Given the description of an element on the screen output the (x, y) to click on. 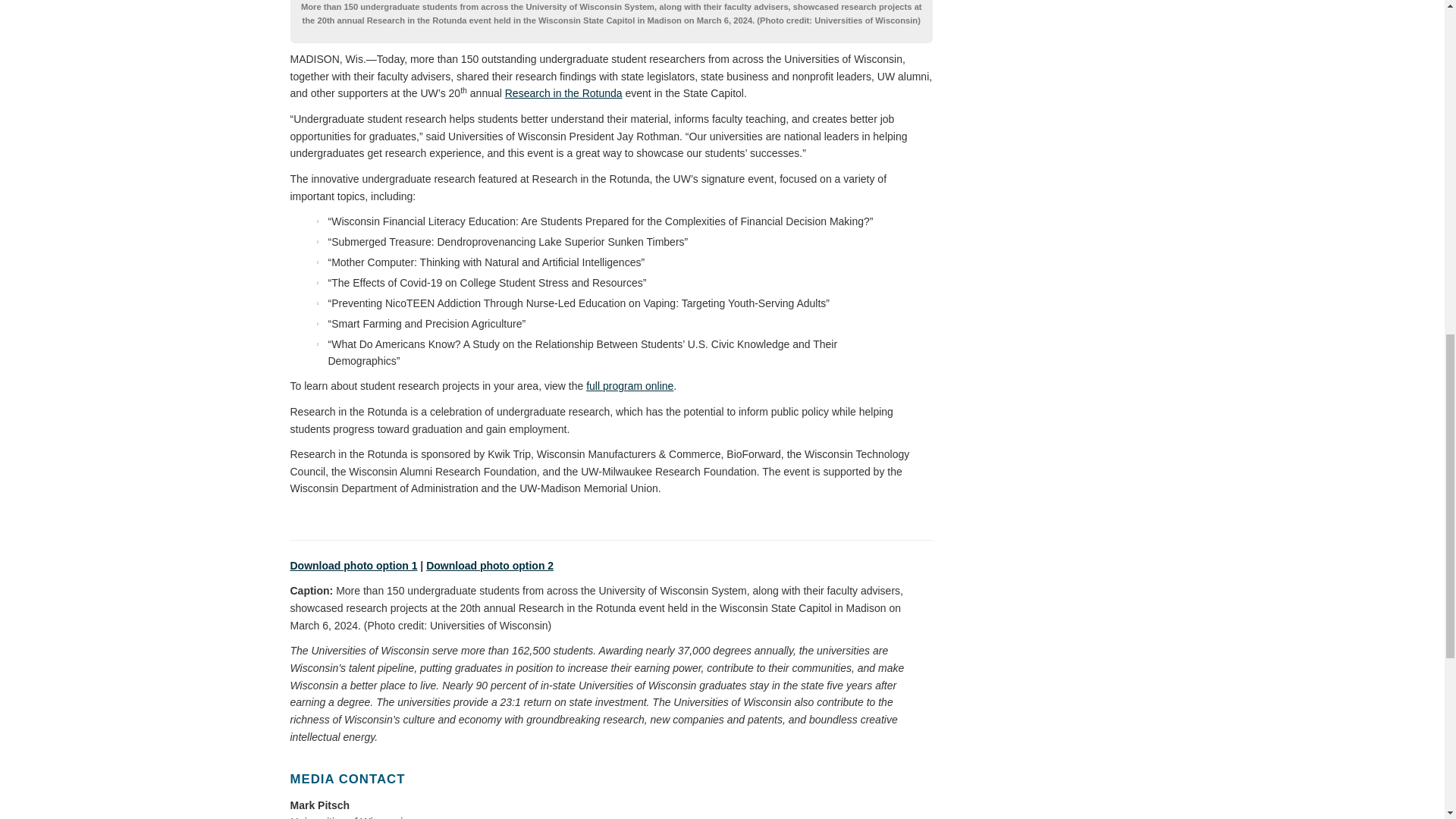
Download photo option 2 (489, 565)
Download photo option 1 (352, 565)
full program online (629, 385)
Research in the Rotunda (564, 93)
